Given the description of an element on the screen output the (x, y) to click on. 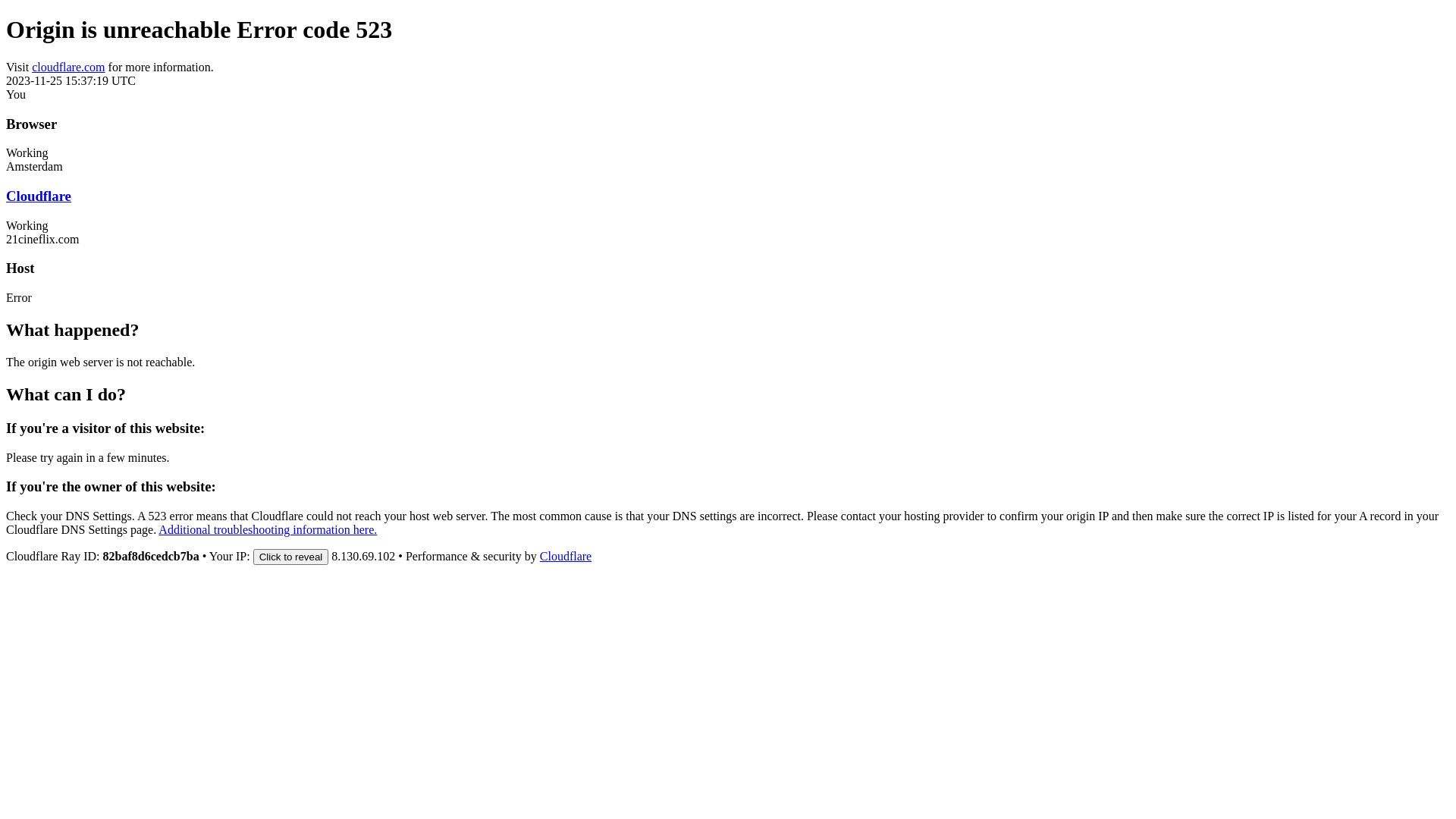
Click to reveal Element type: text (291, 556)
Cloudflare Element type: text (565, 555)
Cloudflare Element type: text (38, 195)
Additional troubleshooting information here. Element type: text (267, 529)
cloudflare.com Element type: text (67, 66)
